Given the description of an element on the screen output the (x, y) to click on. 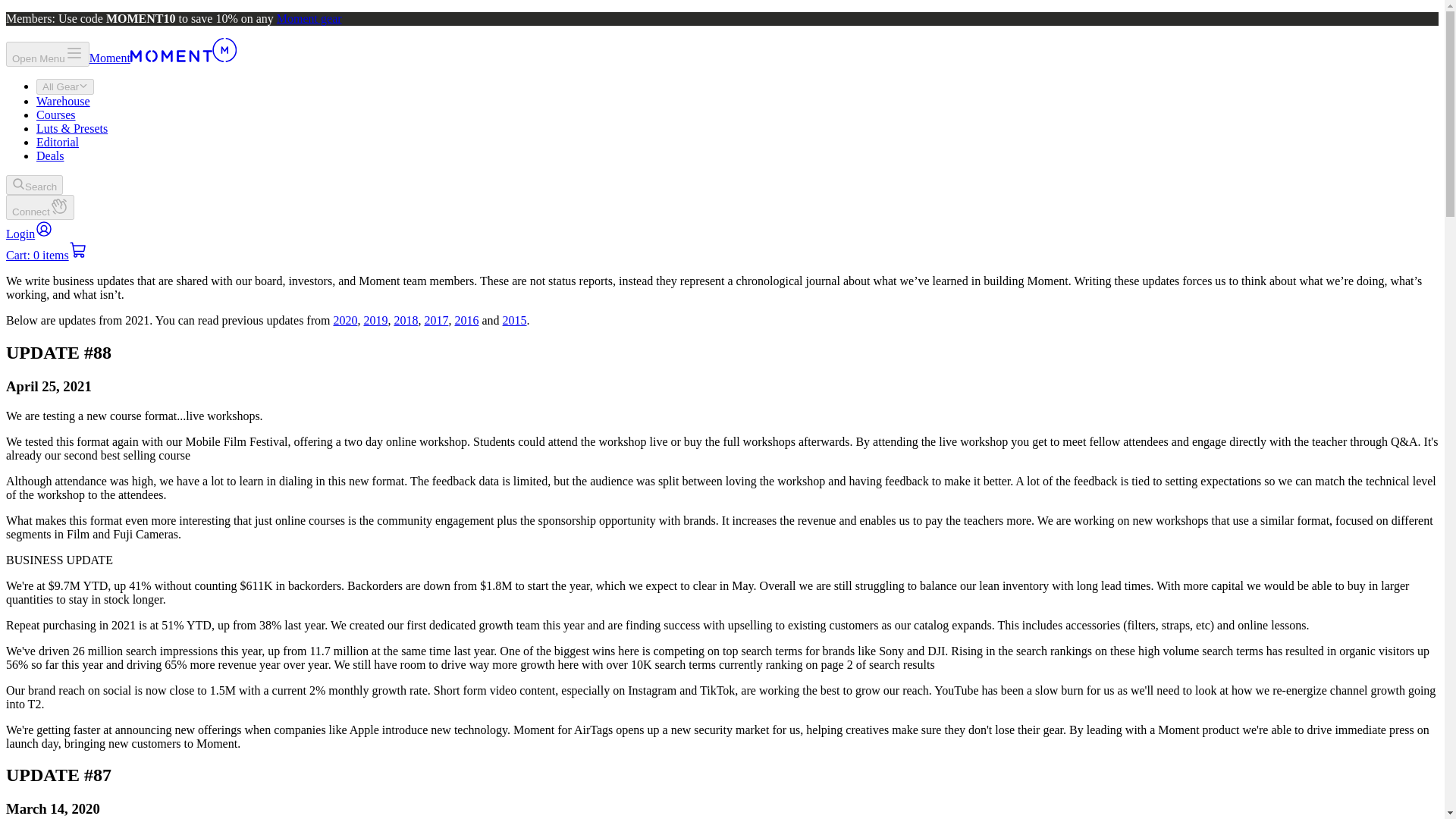
Deals (50, 155)
Courses (55, 114)
Moment (161, 57)
All Gear (65, 86)
Moment gear (309, 18)
Connect (39, 207)
Login (28, 233)
2018 (405, 319)
Open Menu (46, 53)
2019 (374, 319)
